Given the description of an element on the screen output the (x, y) to click on. 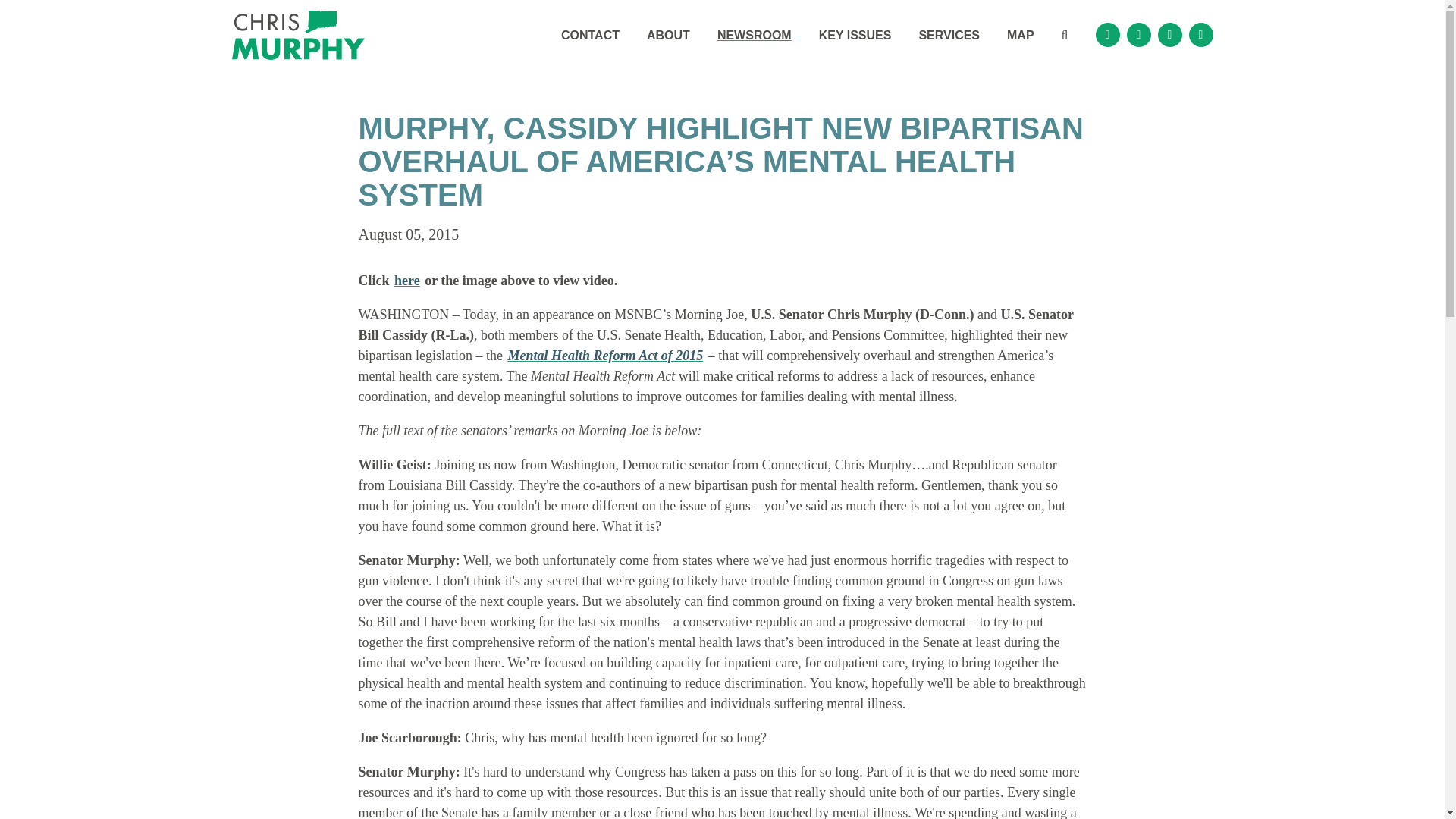
SERVICES (948, 35)
Senator Murphy Facebook (1106, 34)
NEWSROOM (754, 35)
Senator Murphy Flickr (1168, 34)
Mental Health Reform Act of 2015 (604, 355)
Senator Murphy Youtube (1200, 34)
MAP (1020, 35)
CONTACT (590, 35)
Senator Murphy Instagram (1138, 34)
ABOUT (668, 35)
